Given the description of an element on the screen output the (x, y) to click on. 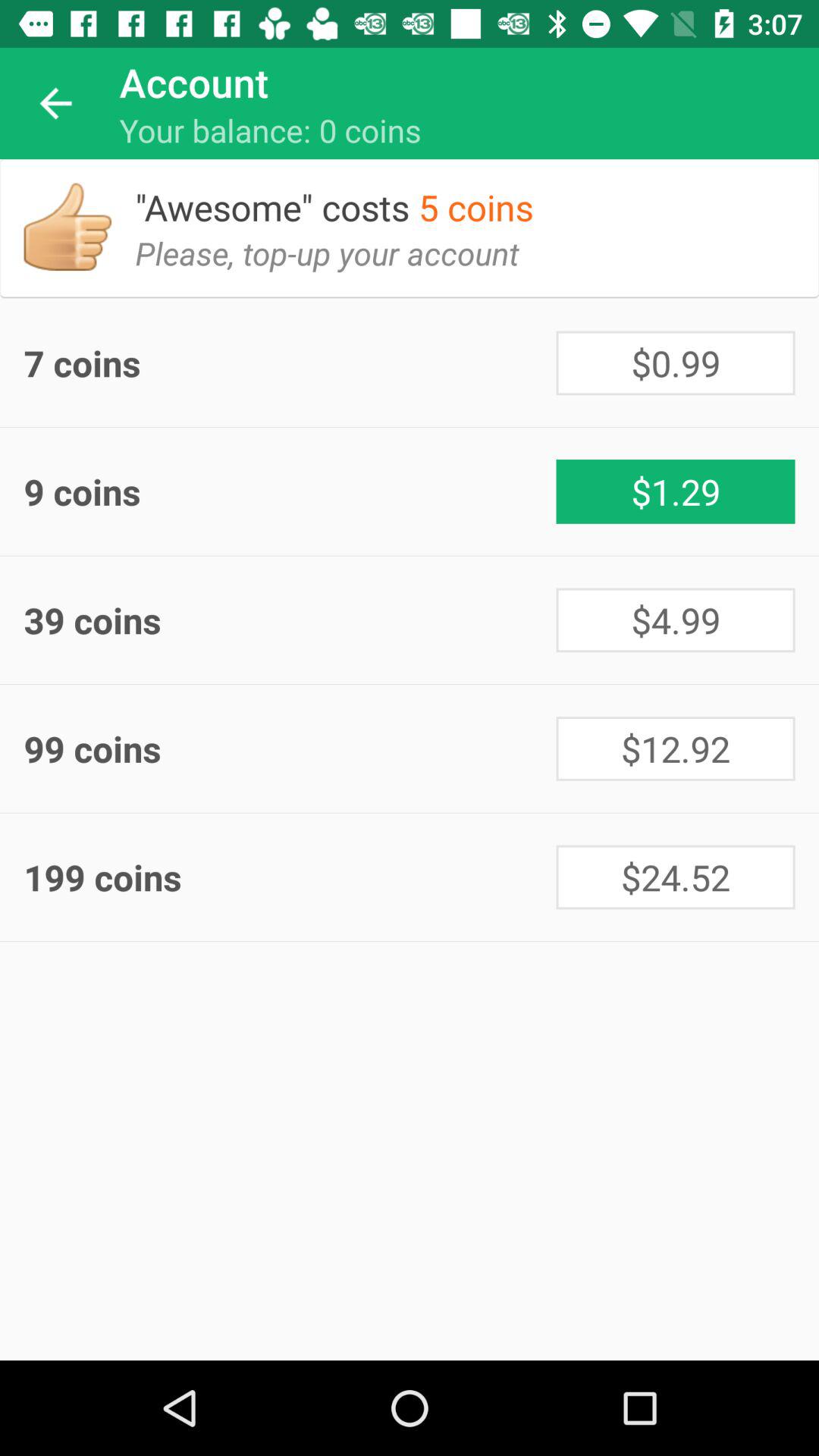
click the item below the 99 coins (675, 877)
